Given the description of an element on the screen output the (x, y) to click on. 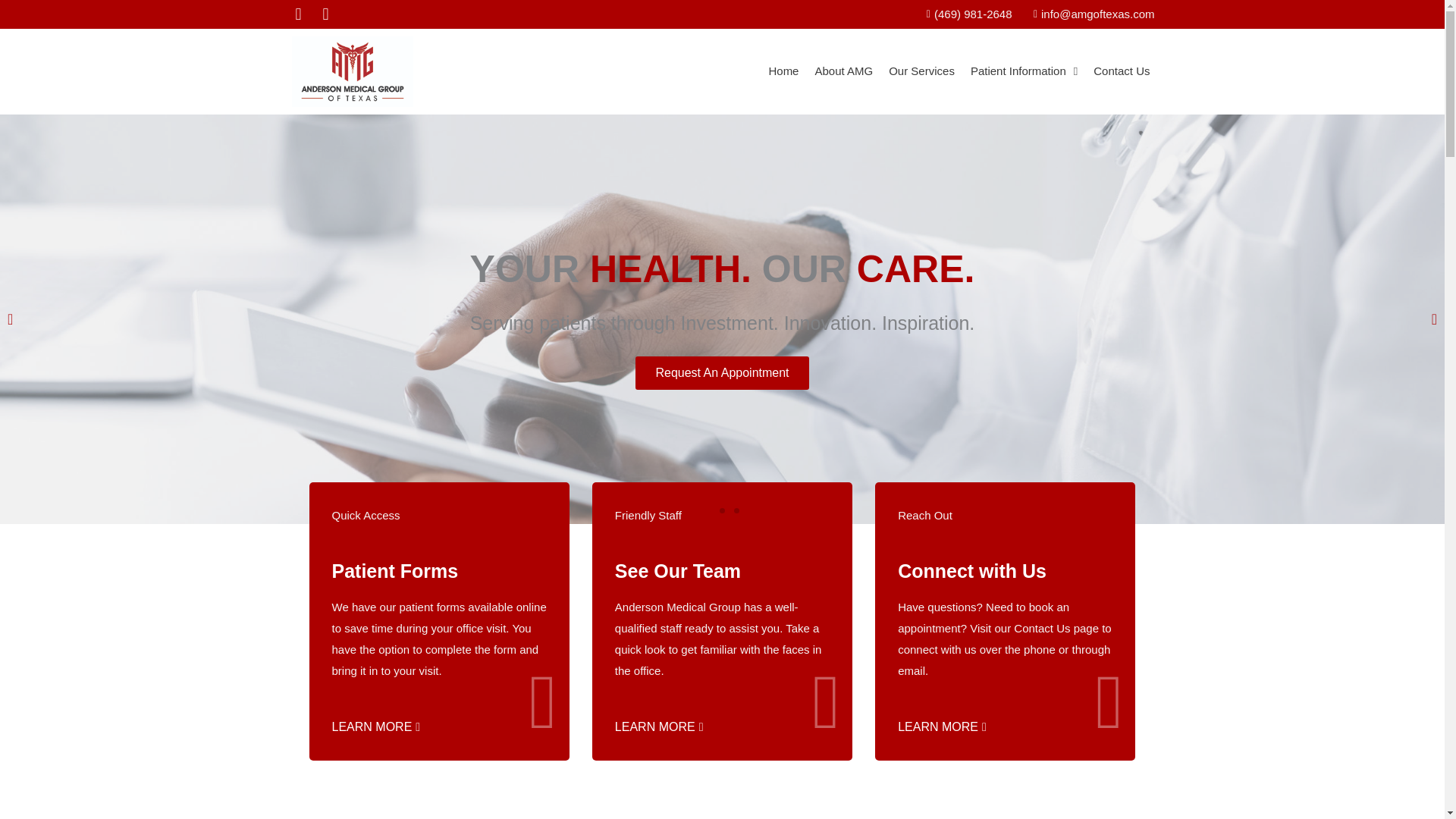
Home (782, 71)
LEARN MORE (942, 727)
Patient Information (1023, 71)
LEARN MORE (658, 727)
About AMG (843, 71)
Request An Appointment (721, 372)
Our Services (921, 71)
Contact Us (1121, 71)
LEARN MORE (375, 727)
